Given the description of an element on the screen output the (x, y) to click on. 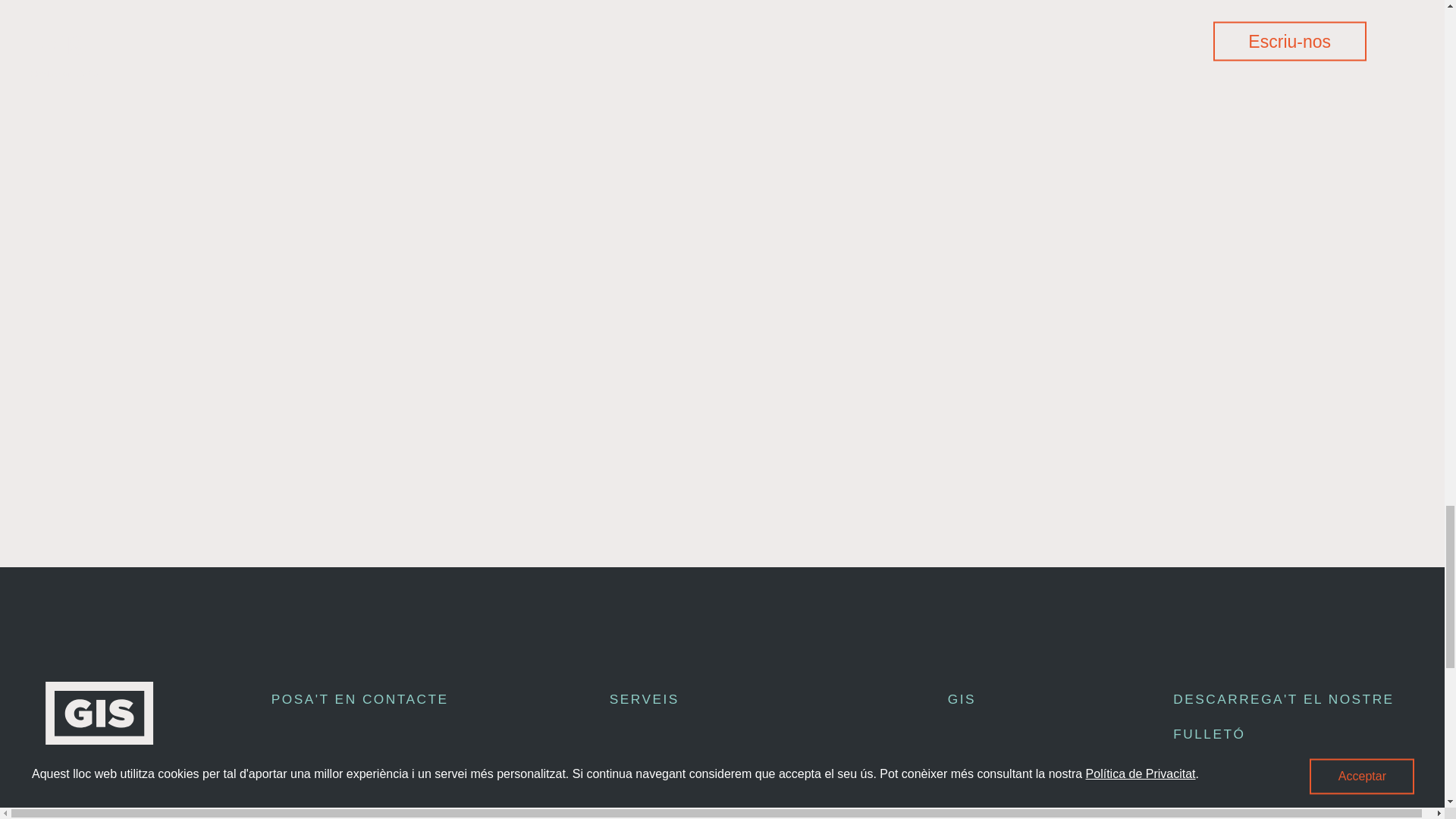
Treball (983, 804)
Marques de GIS (682, 759)
